Given the description of an element on the screen output the (x, y) to click on. 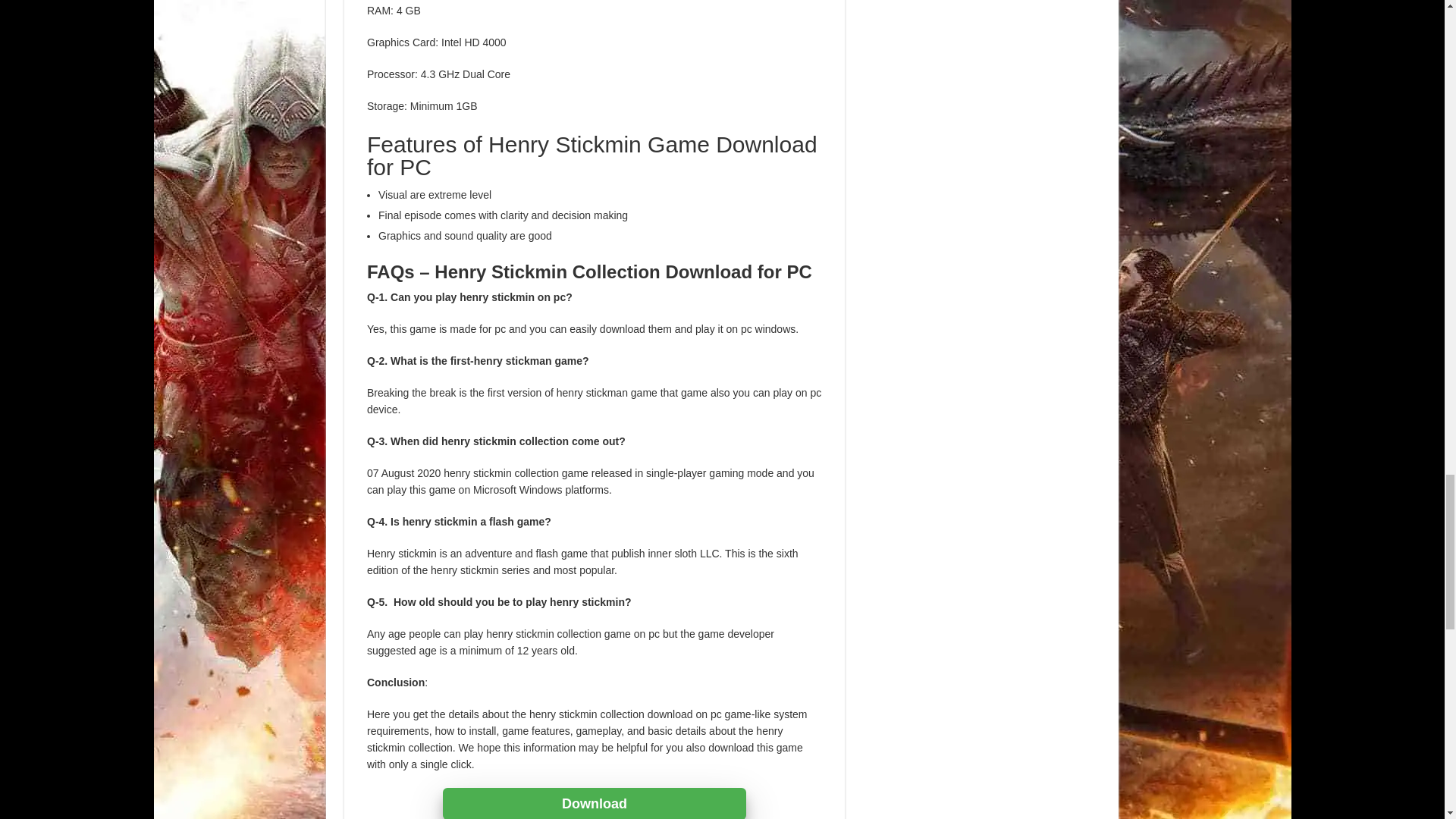
Download (593, 803)
